Given the description of an element on the screen output the (x, y) to click on. 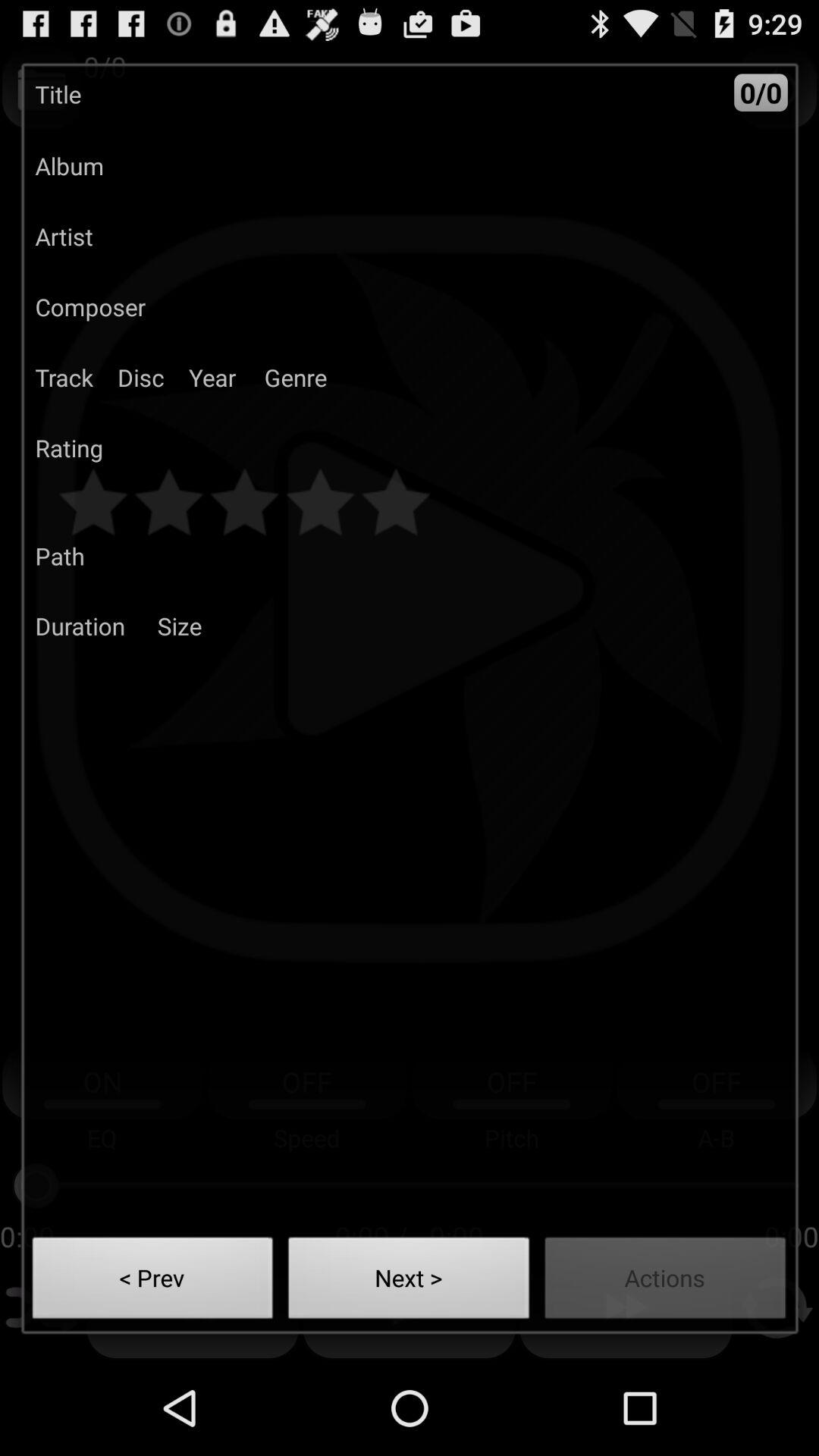
choose the button next to actions item (408, 1282)
